Given the description of an element on the screen output the (x, y) to click on. 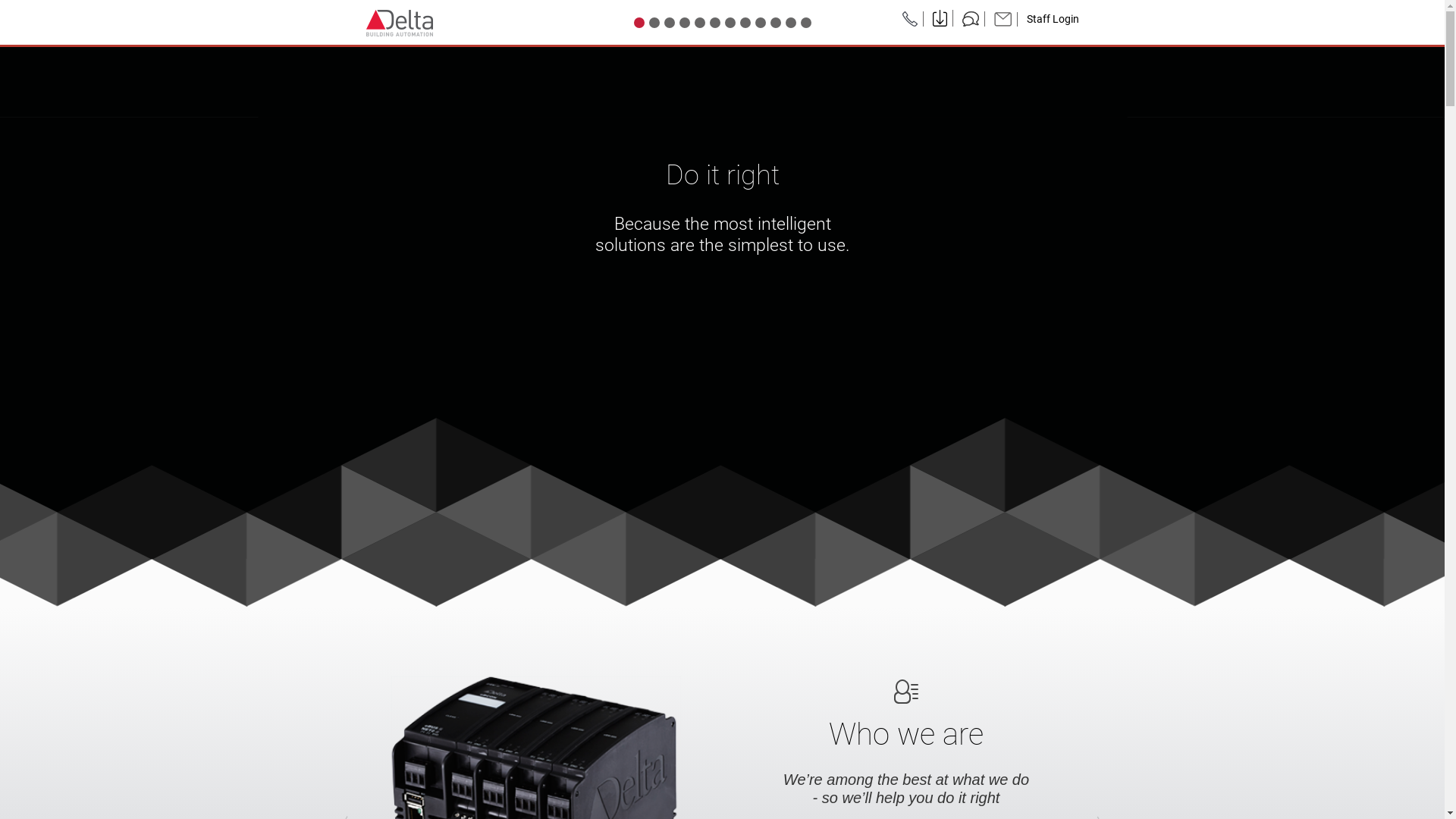
What we do  Element type: text (669, 21)
Staff Login Element type: text (1052, 19)
Home Element type: hover (398, 22)
Delta worldwide  Element type: text (760, 21)
Who we are  Element type: text (654, 21)
Portfolio  Element type: text (745, 21)
We do it right  Element type: text (684, 21)
Home  Element type: text (638, 21)
How we work  Element type: text (699, 21)
Skip to main content Element type: text (55, 0)
Where we are  Element type: text (805, 21)
Our Services  Element type: text (790, 21)
What makes us different  Element type: text (714, 21)
Our Systems  Element type: text (775, 21)
